Given the description of an element on the screen output the (x, y) to click on. 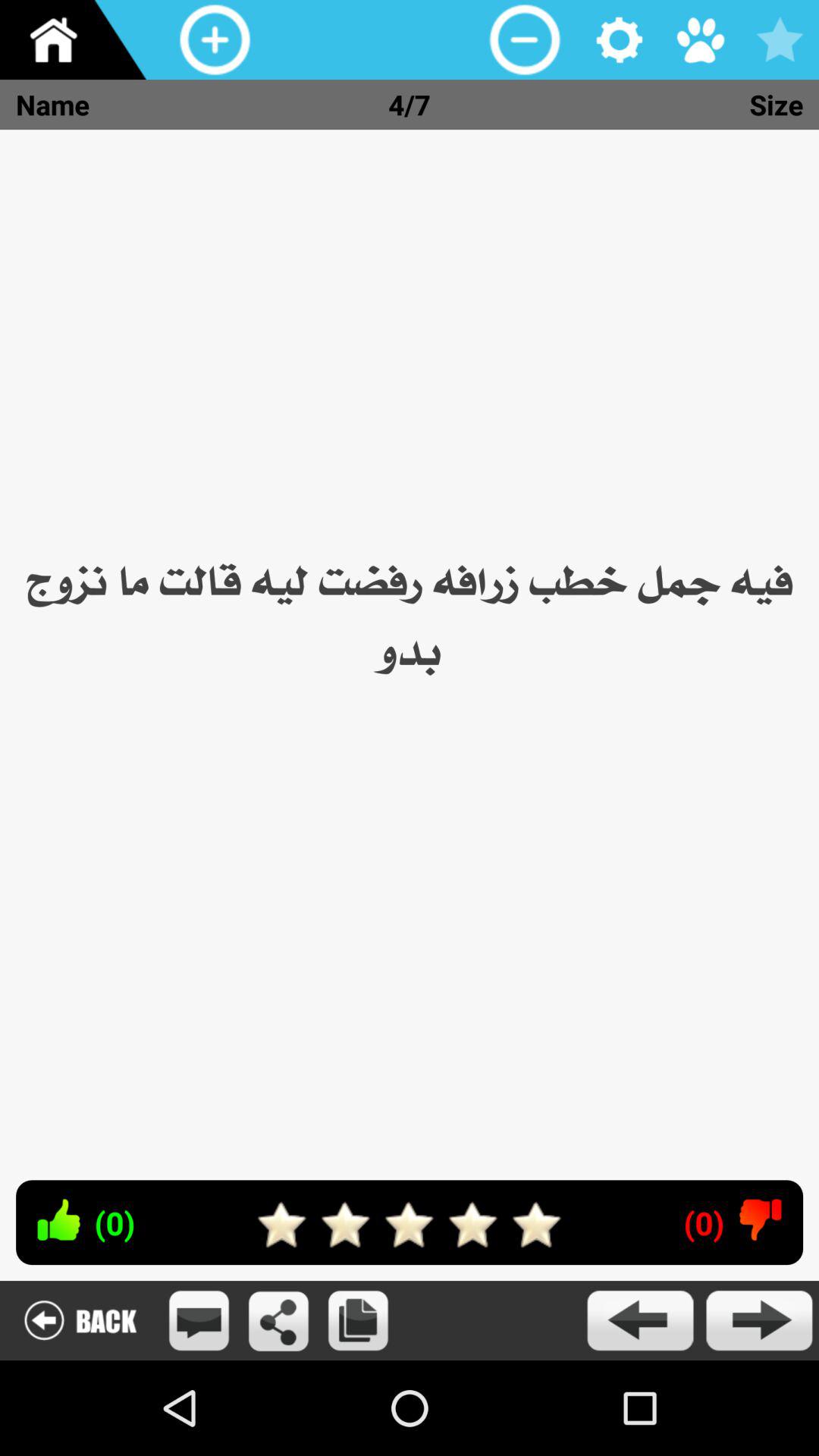
add to favorites (779, 39)
